Given the description of an element on the screen output the (x, y) to click on. 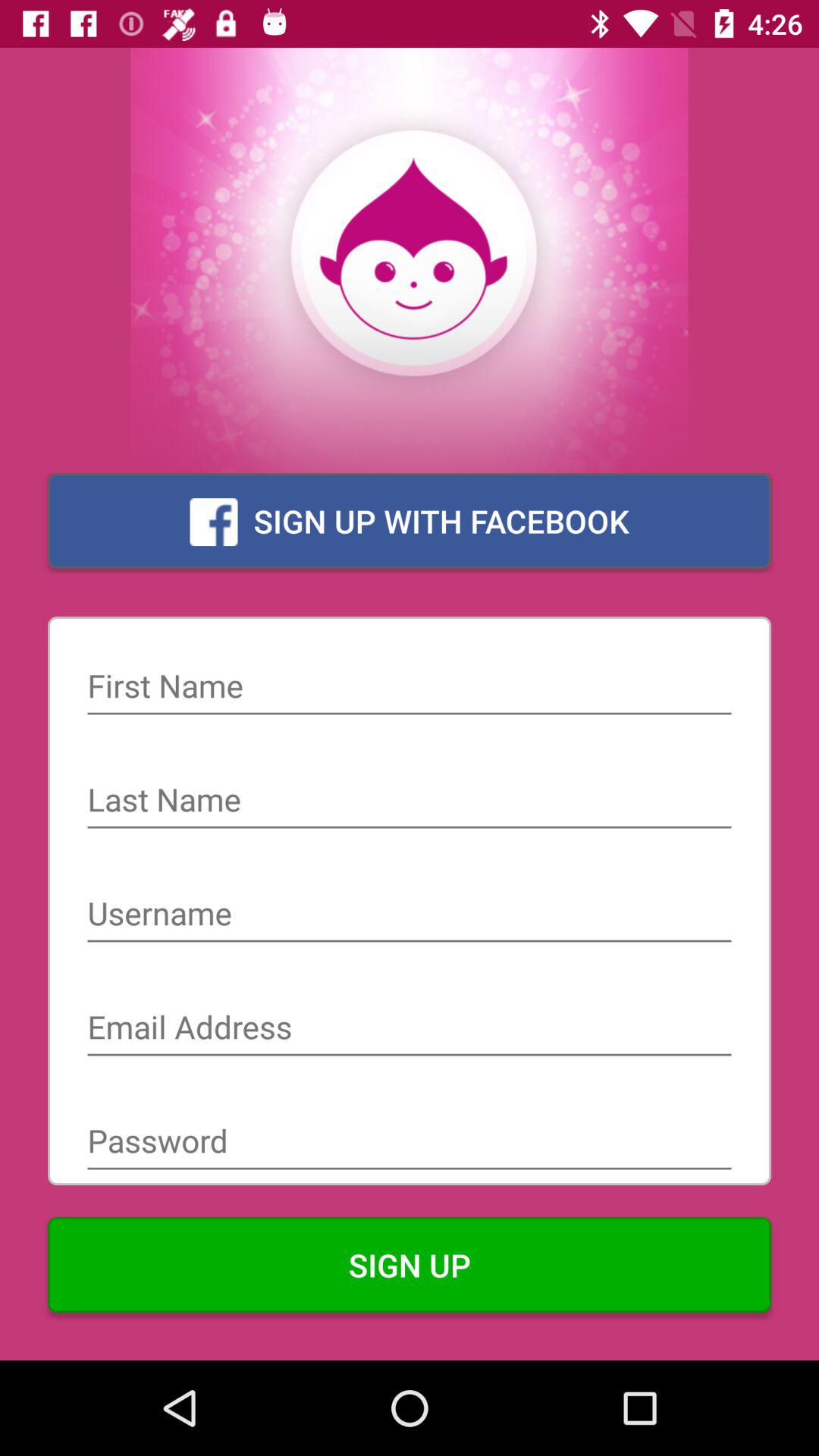
creat name (409, 915)
